Given the description of an element on the screen output the (x, y) to click on. 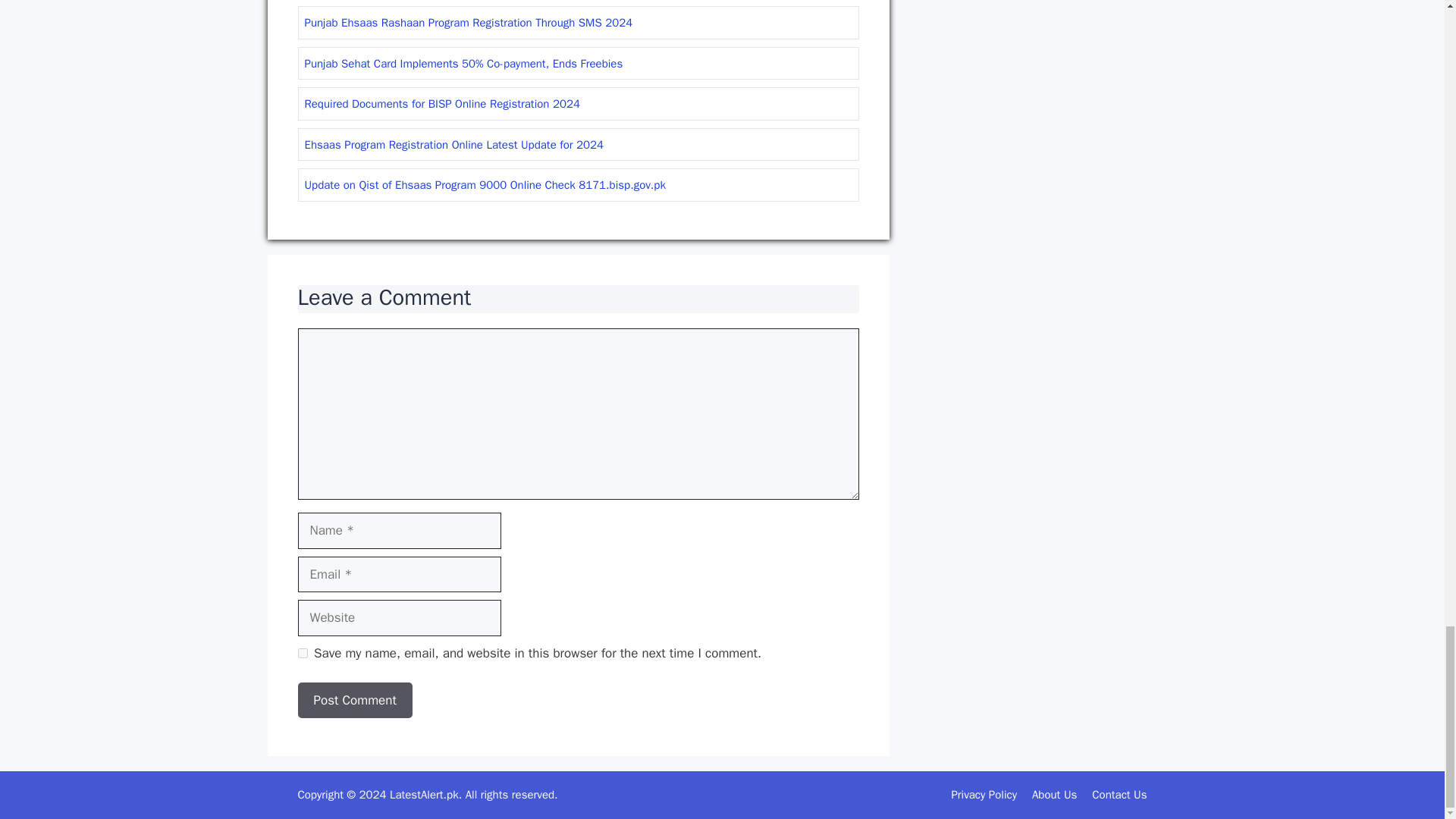
Ehsaas Program Registration Online Latest Update for 2024 (454, 144)
Post Comment (354, 700)
Post Comment (354, 700)
yes (302, 653)
Required Documents for BISP Online Registration 2024 (441, 103)
Contact Us (1119, 794)
About Us (1054, 794)
Punjab Ehsaas Rashaan Program Registration Through SMS 2024 (468, 22)
Privacy Policy (983, 794)
